Given the description of an element on the screen output the (x, y) to click on. 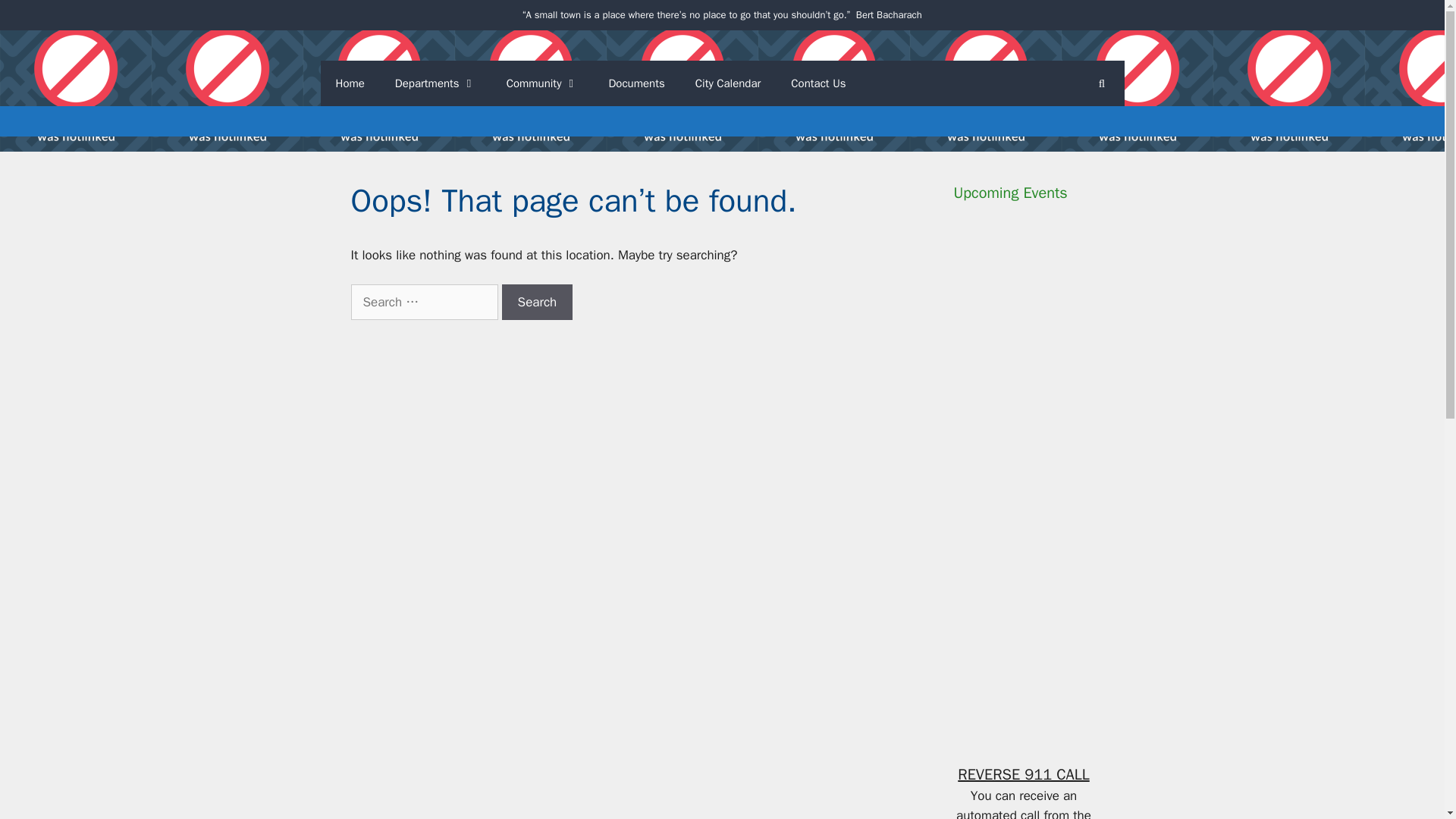
Contact Us (818, 83)
City Calendar (727, 83)
Search (537, 302)
Search for: (423, 302)
Documents (635, 83)
Search (537, 302)
Departments (436, 83)
Community (543, 83)
Home (349, 83)
